Given the description of an element on the screen output the (x, y) to click on. 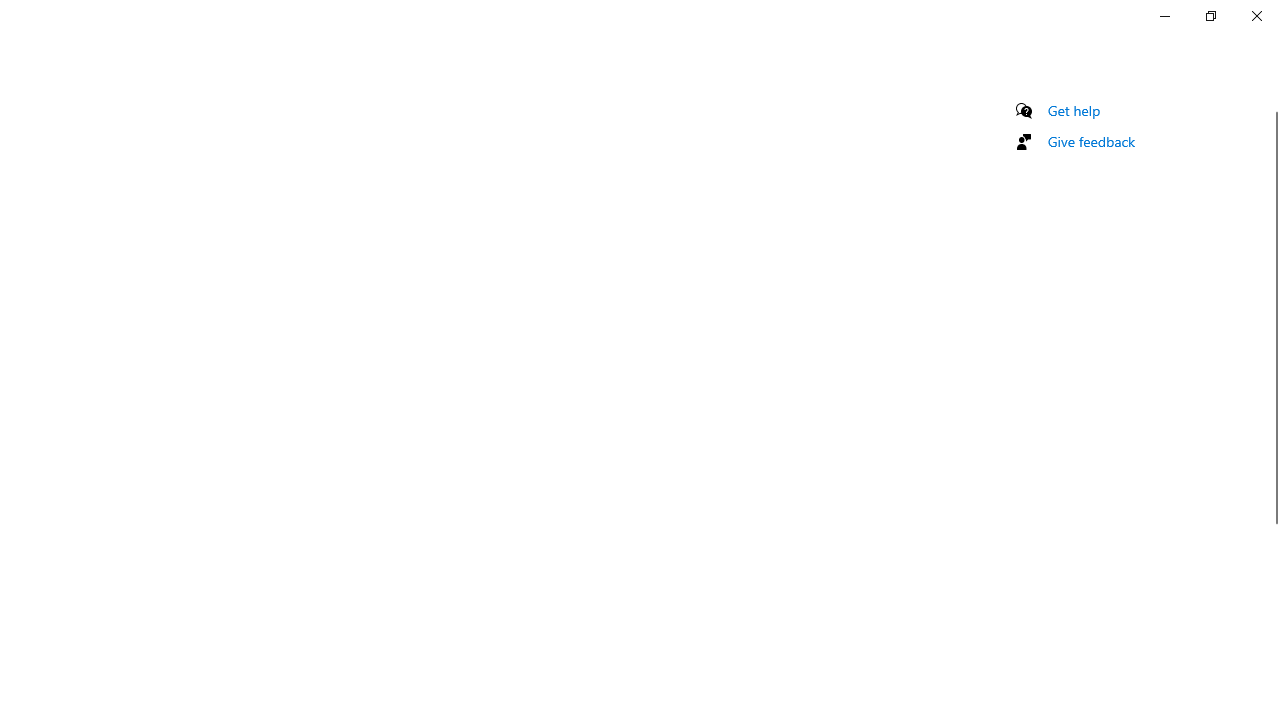
Vertical Small Decrease (1272, 103)
Minimize Settings (1164, 15)
Get help (1074, 110)
Give feedback (1091, 141)
Close Settings (1256, 15)
Restore Settings (1210, 15)
